Given the description of an element on the screen output the (x, y) to click on. 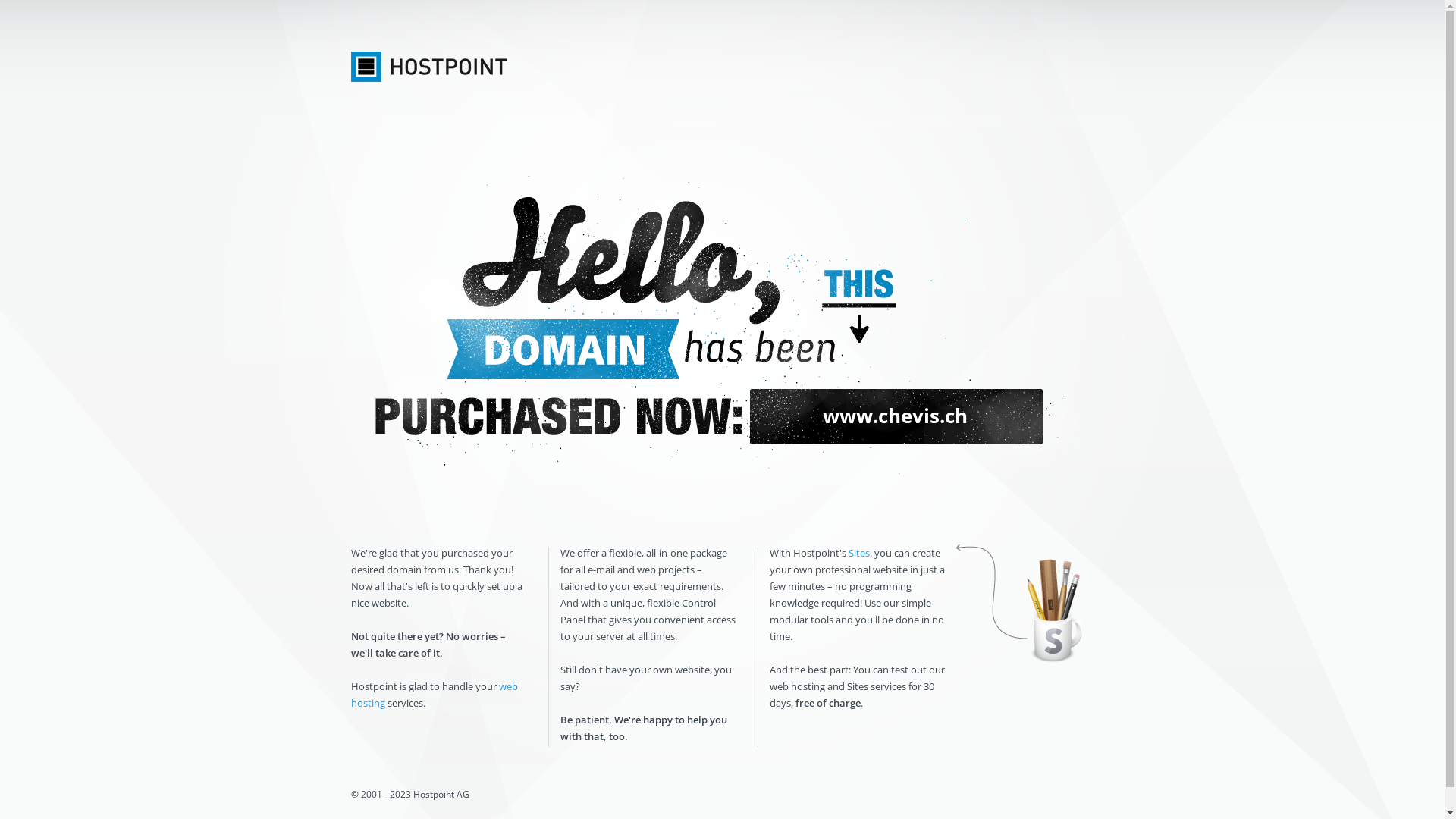
web hosting Element type: text (433, 694)
Sites Element type: text (858, 552)
